Given the description of an element on the screen output the (x, y) to click on. 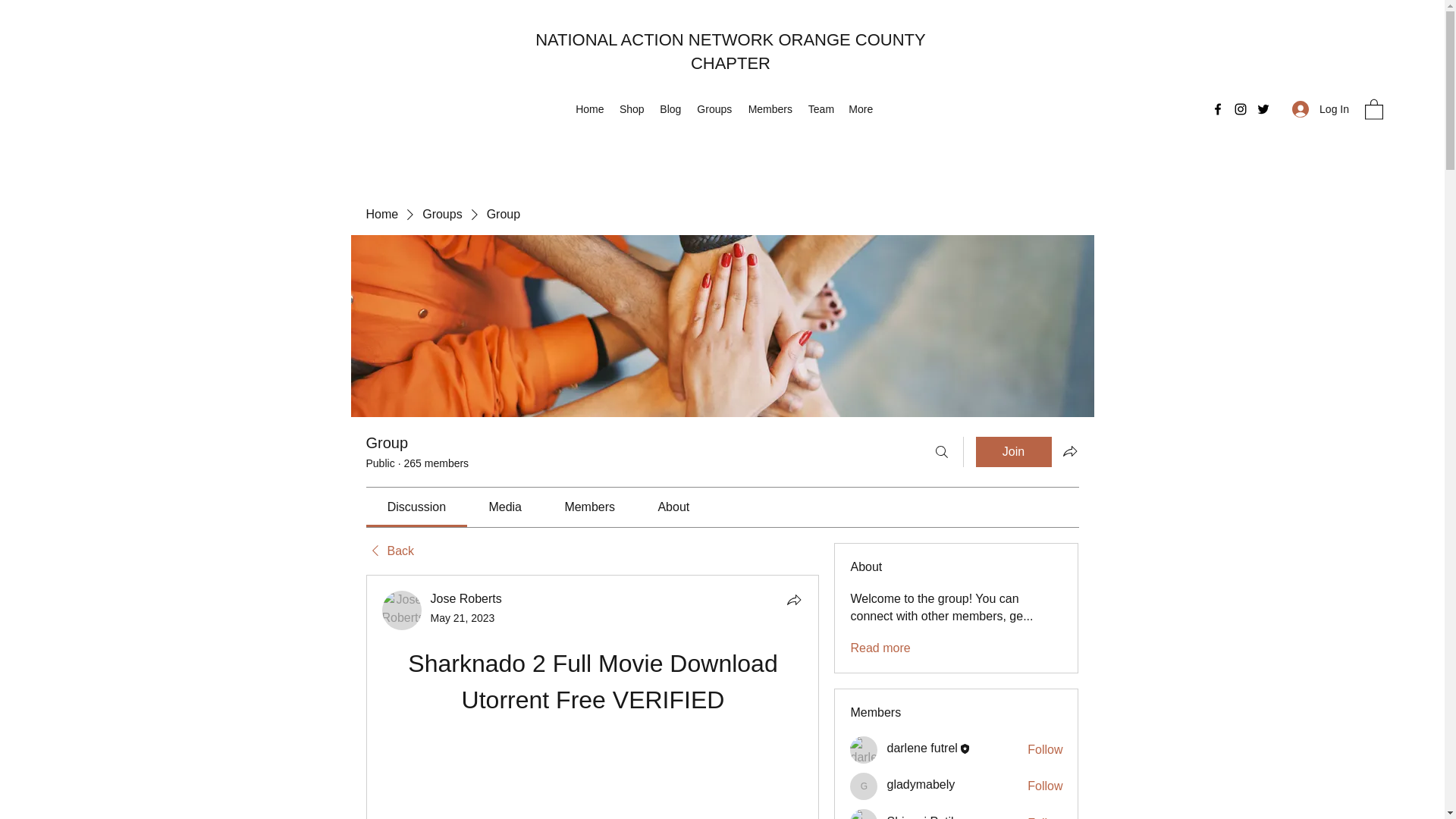
Read more (880, 647)
Shop (631, 108)
Blog (670, 108)
Log In (1320, 109)
Groups (441, 214)
darlene futrel (863, 749)
Team (820, 108)
gladymabely (863, 786)
darlene futrel (921, 748)
Join (1013, 451)
Groups (713, 108)
NATIONAL ACTION NETWORK ORANGE COUNTY CHAPTER (730, 51)
Home (589, 108)
Members (769, 108)
Jose Roberts (401, 609)
